Given the description of an element on the screen output the (x, y) to click on. 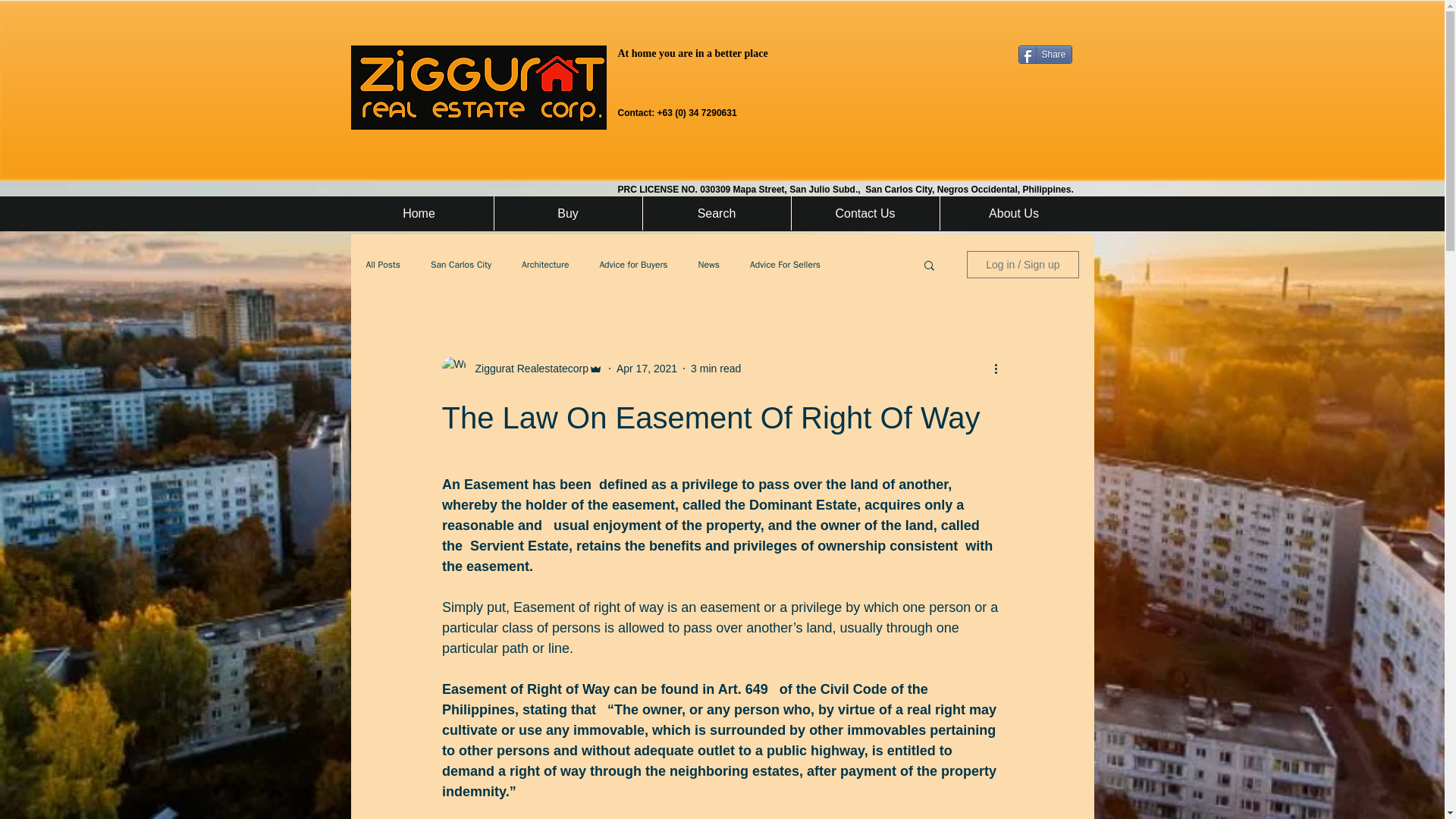
Share (1044, 54)
Apr 17, 2021 (646, 368)
Buy (567, 213)
Share (1044, 54)
San Carlos City (461, 264)
About Us (1013, 213)
Ziggurat Realestatecorp (526, 368)
All Posts (382, 264)
Advice For Sellers (785, 264)
Search (716, 213)
